Given the description of an element on the screen output the (x, y) to click on. 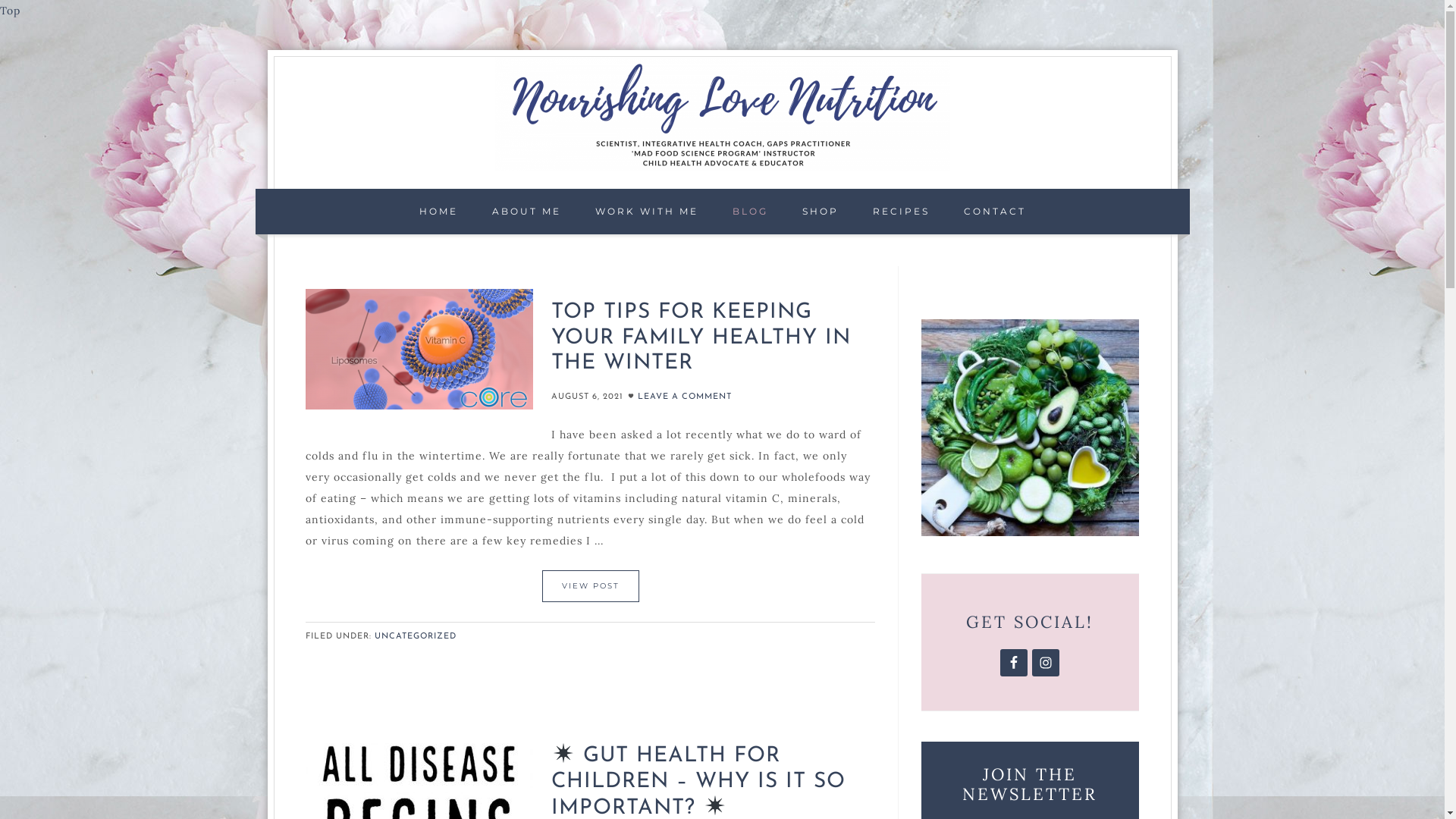
Nourishing Love Element type: text (722, 113)
BLOG Element type: text (750, 211)
CONTACT Element type: text (993, 211)
WORK WITH ME Element type: text (645, 211)
SHOP Element type: text (820, 211)
TOP TIPS FOR KEEPING YOUR FAMILY HEALTHY IN THE WINTER Element type: text (700, 337)
HOME Element type: text (437, 211)
LEAVE A COMMENT Element type: text (684, 396)
RECIPES Element type: text (900, 211)
Top Element type: text (10, 10)
ABOUT ME Element type: text (525, 211)
UNCATEGORIZED Element type: text (415, 636)
VIEW POST Element type: text (590, 586)
